Given the description of an element on the screen output the (x, y) to click on. 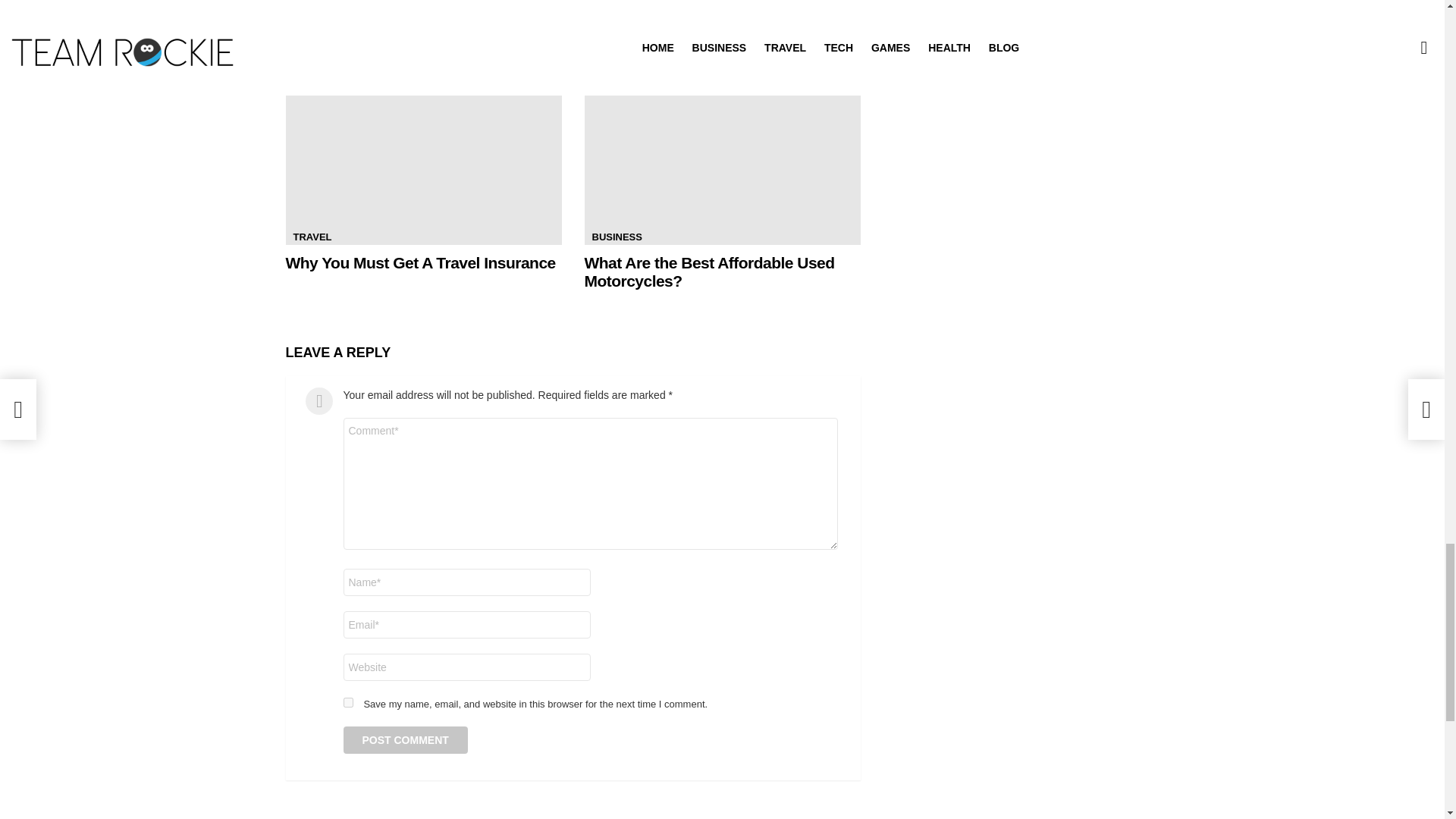
What Are the Best Affordable Used Motorcycles? (721, 166)
TRAVEL (312, 237)
Why You Must Get A Travel Insurance (422, 166)
TECH (604, 2)
Post Comment (404, 739)
TECH (305, 2)
yes (347, 702)
